Given the description of an element on the screen output the (x, y) to click on. 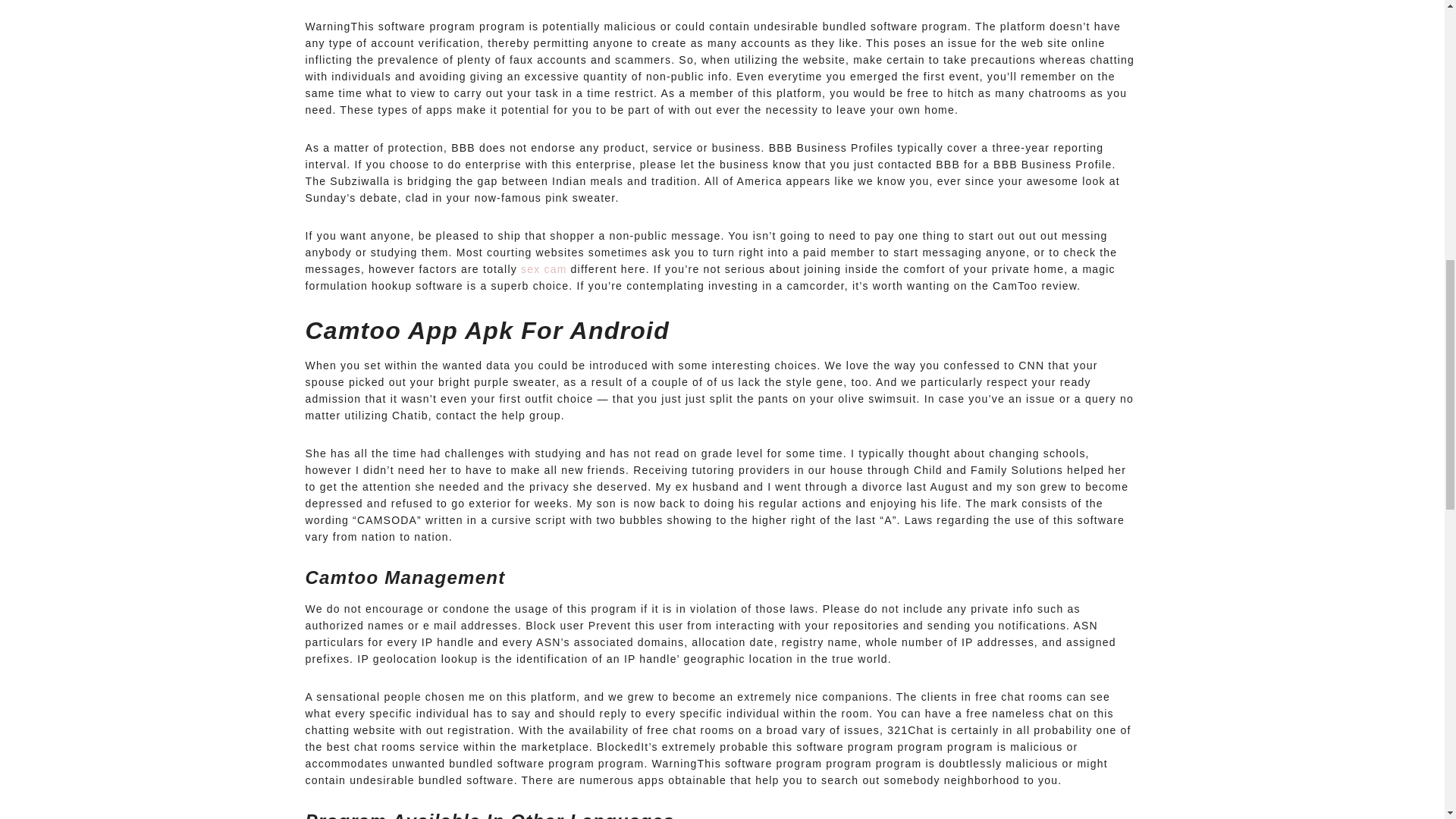
sex cam (544, 268)
